Given the description of an element on the screen output the (x, y) to click on. 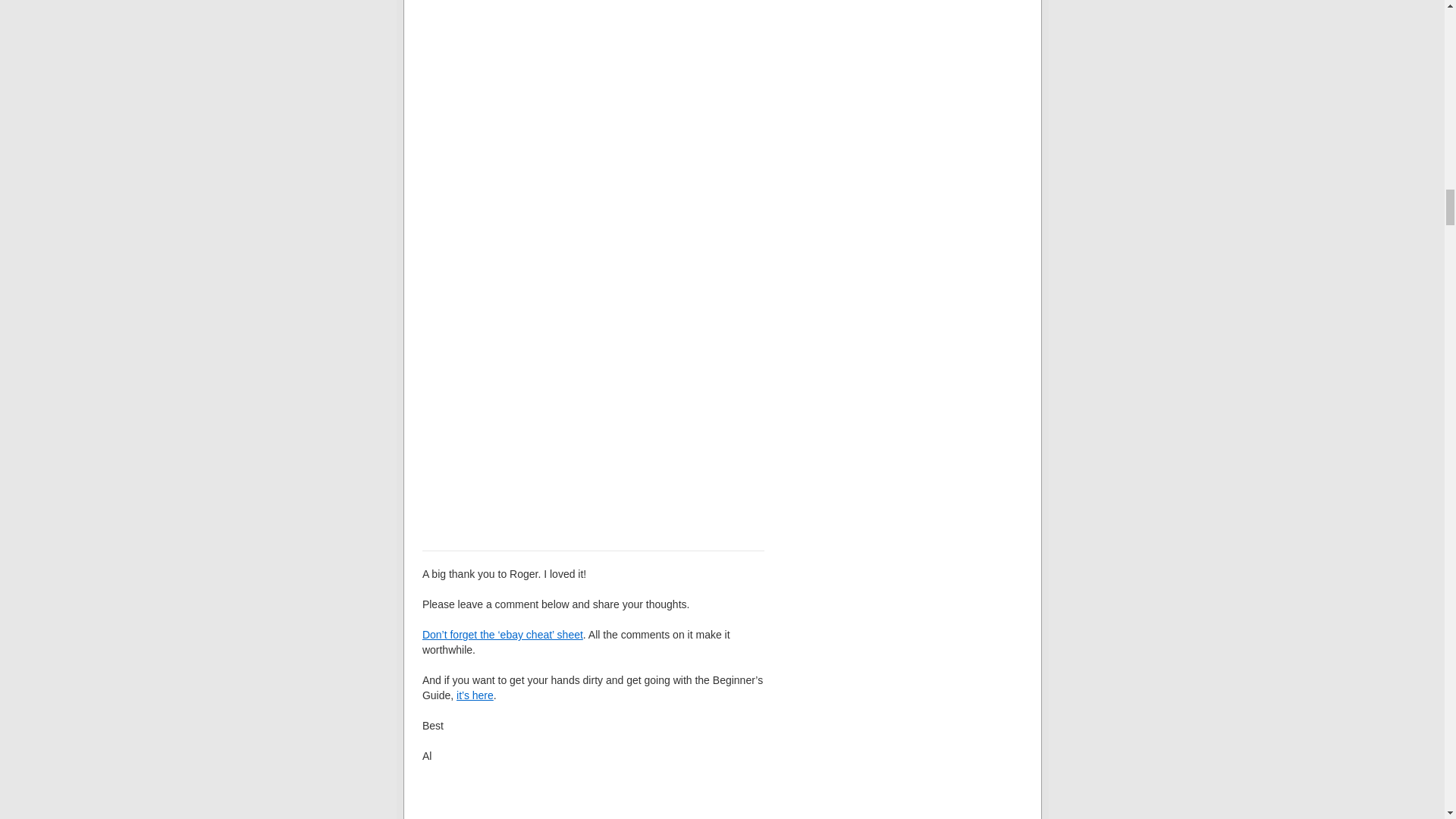
10 (592, 407)
9 (592, 135)
